Given the description of an element on the screen output the (x, y) to click on. 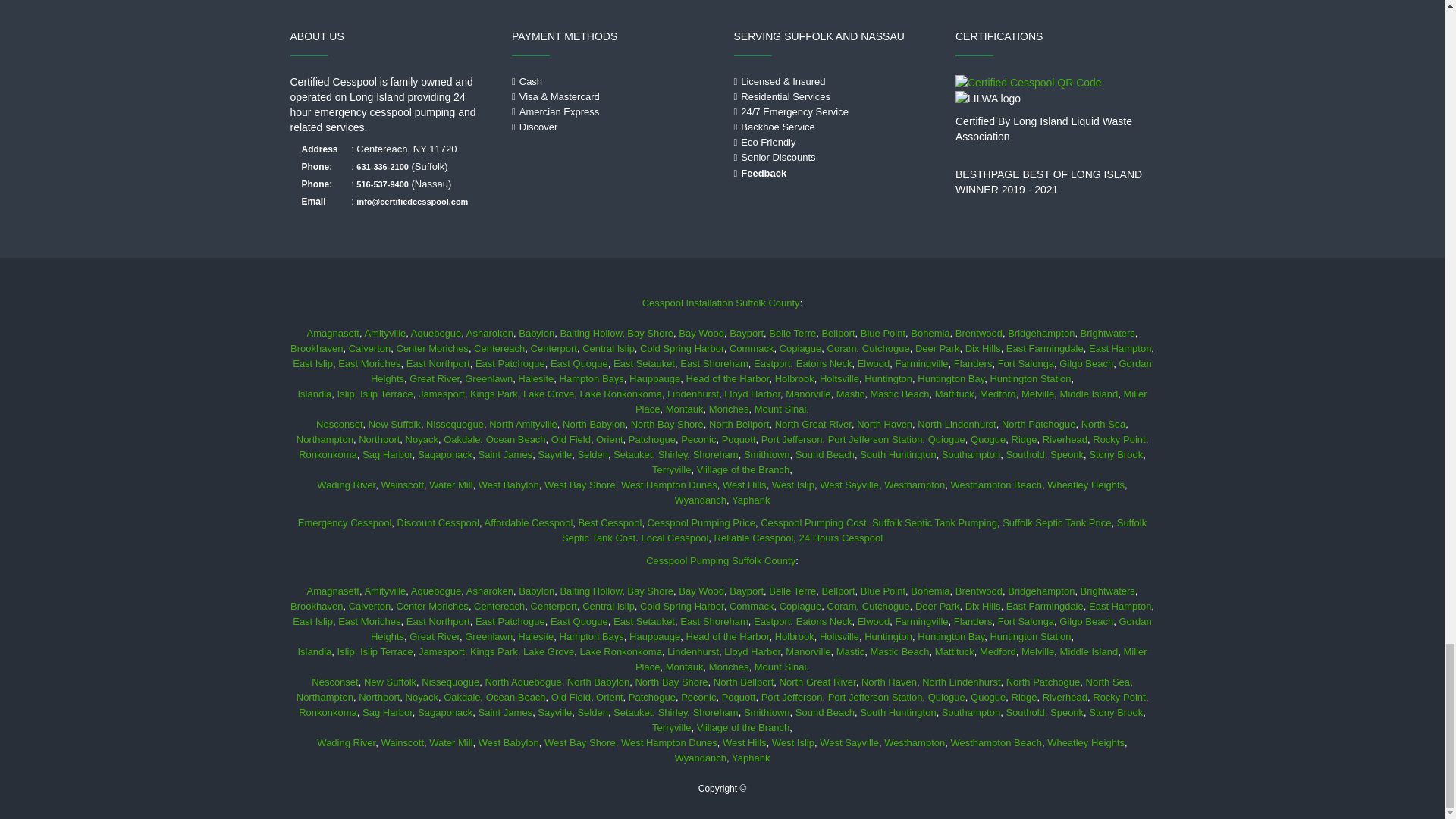
516-537-9400 (382, 184)
Bay Shore (649, 333)
Baiting Hollow (590, 333)
Babylon (536, 333)
Aquebogue (435, 333)
Amityville (385, 333)
Cesspool Installation Suffolk County (720, 302)
Bay Wood (700, 333)
Feedback (763, 173)
Amagnasett (331, 333)
631-336-2100 (382, 166)
Asharoken (489, 333)
